Given the description of an element on the screen output the (x, y) to click on. 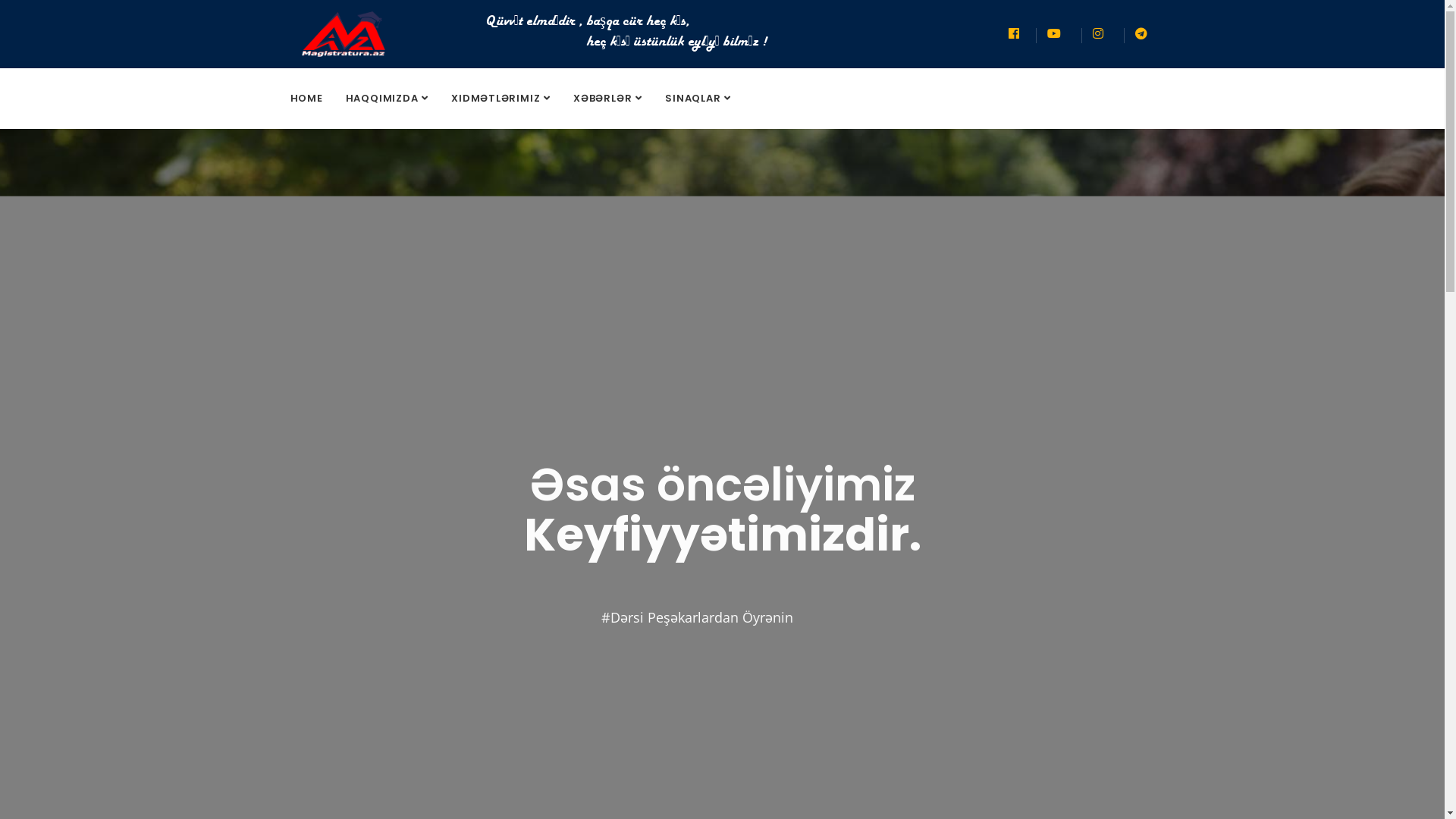
SINAQLAR Element type: text (697, 98)
HOME Element type: text (306, 98)
HAQQIMIZDA Element type: text (387, 98)
